Given the description of an element on the screen output the (x, y) to click on. 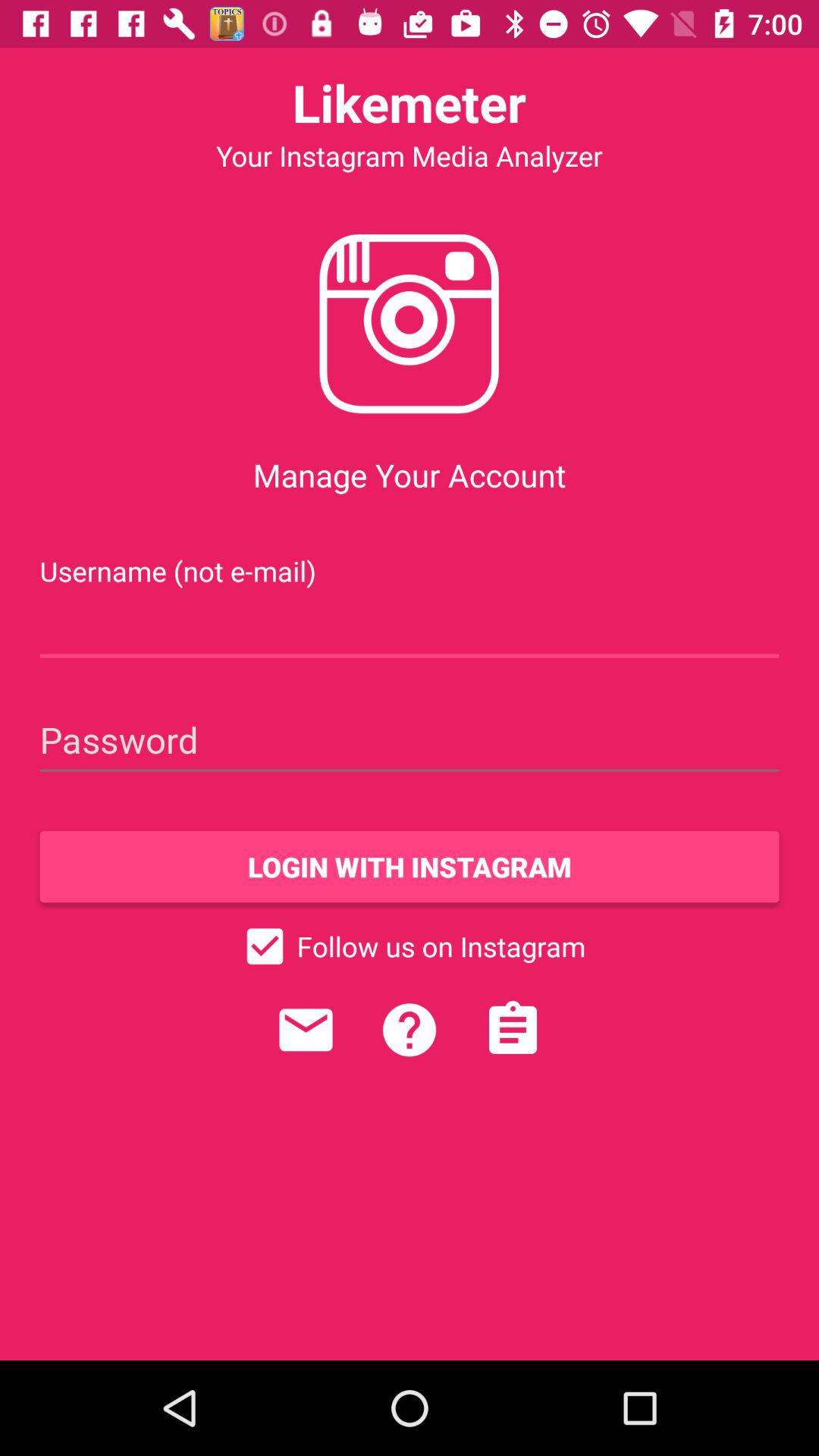
username field (409, 626)
